Given the description of an element on the screen output the (x, y) to click on. 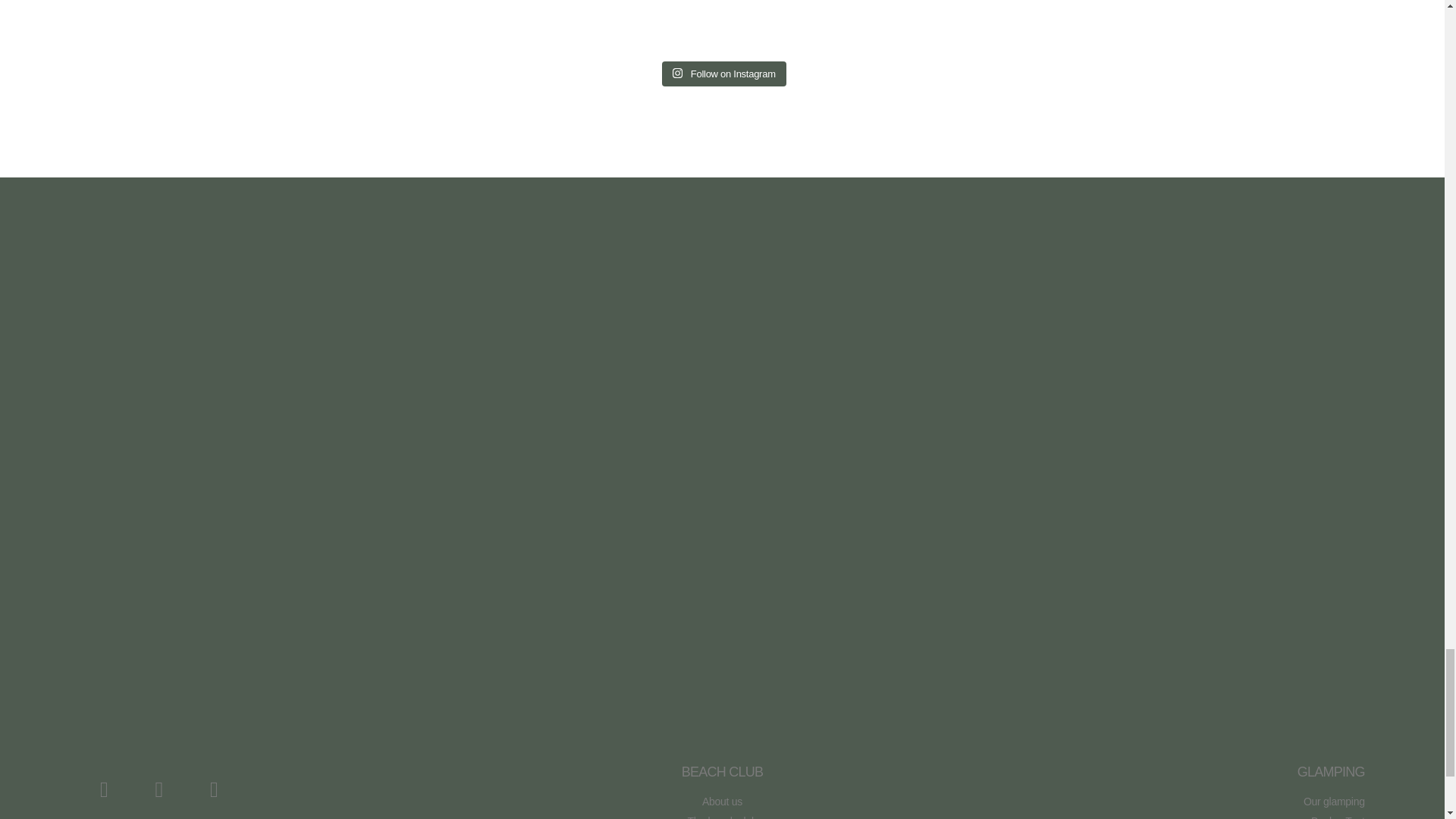
Follow on Instagram (724, 73)
About us (722, 801)
Our glamping (1155, 801)
Book a Tent (1155, 816)
The beach club (722, 816)
